Given the description of an element on the screen output the (x, y) to click on. 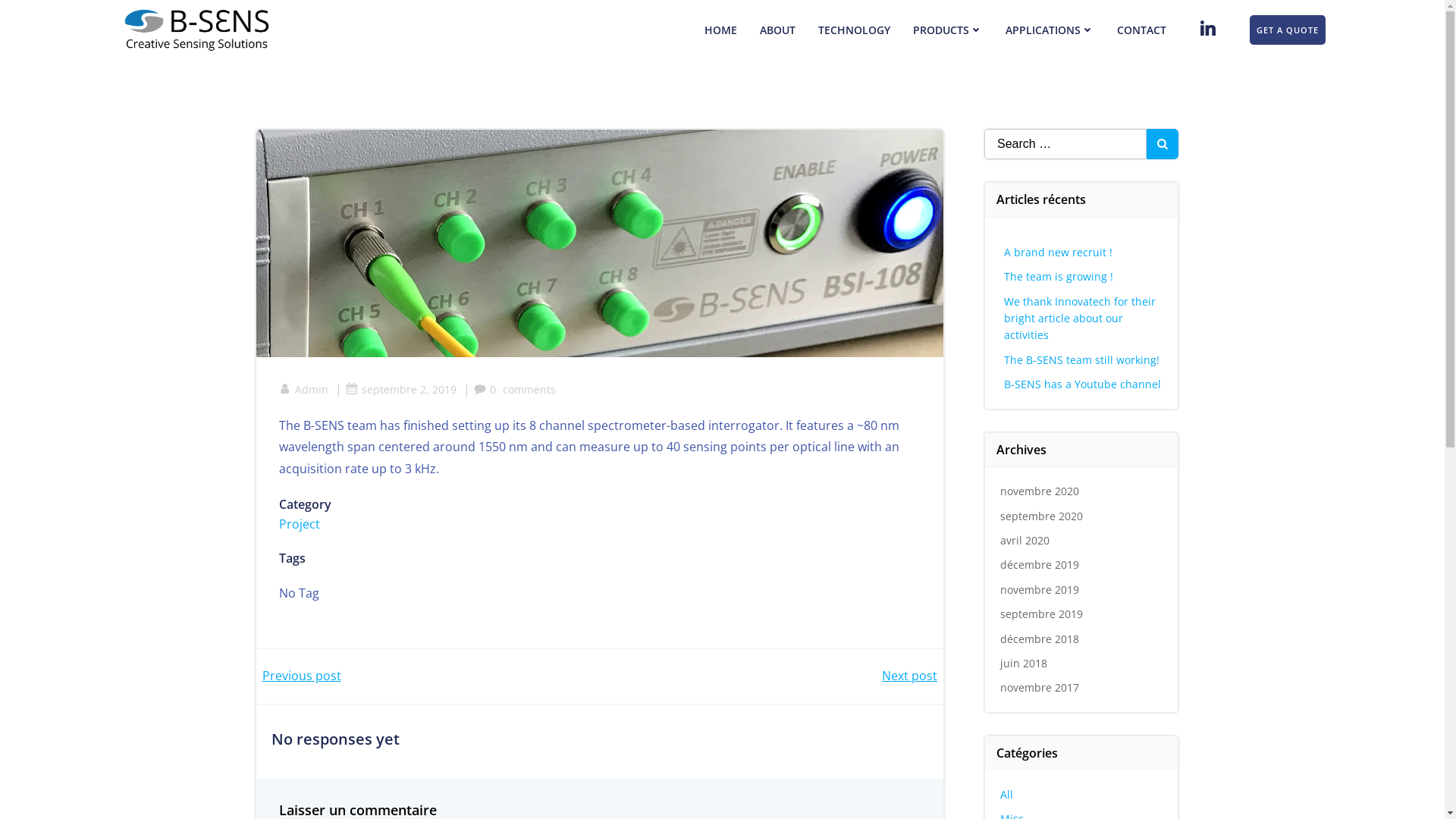
ABOUT Element type: text (777, 29)
Previous post Element type: text (301, 675)
CONTACT Element type: text (1141, 29)
The B-SENS team still working! Element type: text (1081, 359)
0 Element type: text (484, 389)
novembre 2019 Element type: text (1039, 589)
novembre 2020 Element type: text (1039, 490)
septembre 2, 2019 Element type: text (400, 389)
PRODUCTS Element type: text (947, 29)
B-SENS has a Youtube channel Element type: text (1082, 383)
The team is growing ! Element type: text (1058, 276)
A brand new recruit ! Element type: text (1058, 251)
Project Element type: text (299, 523)
septembre 2020 Element type: text (1041, 515)
APPLICATIONS Element type: text (1049, 29)
avril 2020 Element type: text (1024, 540)
Search  Element type: text (30, 15)
TECHNOLOGY Element type: text (854, 29)
Next post Element type: text (909, 675)
novembre 2017 Element type: text (1039, 687)
juin 2018 Element type: text (1023, 662)
GET A QUOTE Element type: text (1287, 29)
All Element type: text (1006, 794)
Admin Element type: text (303, 389)
septembre 2019 Element type: text (1041, 613)
HOME Element type: text (720, 29)
